Given the description of an element on the screen output the (x, y) to click on. 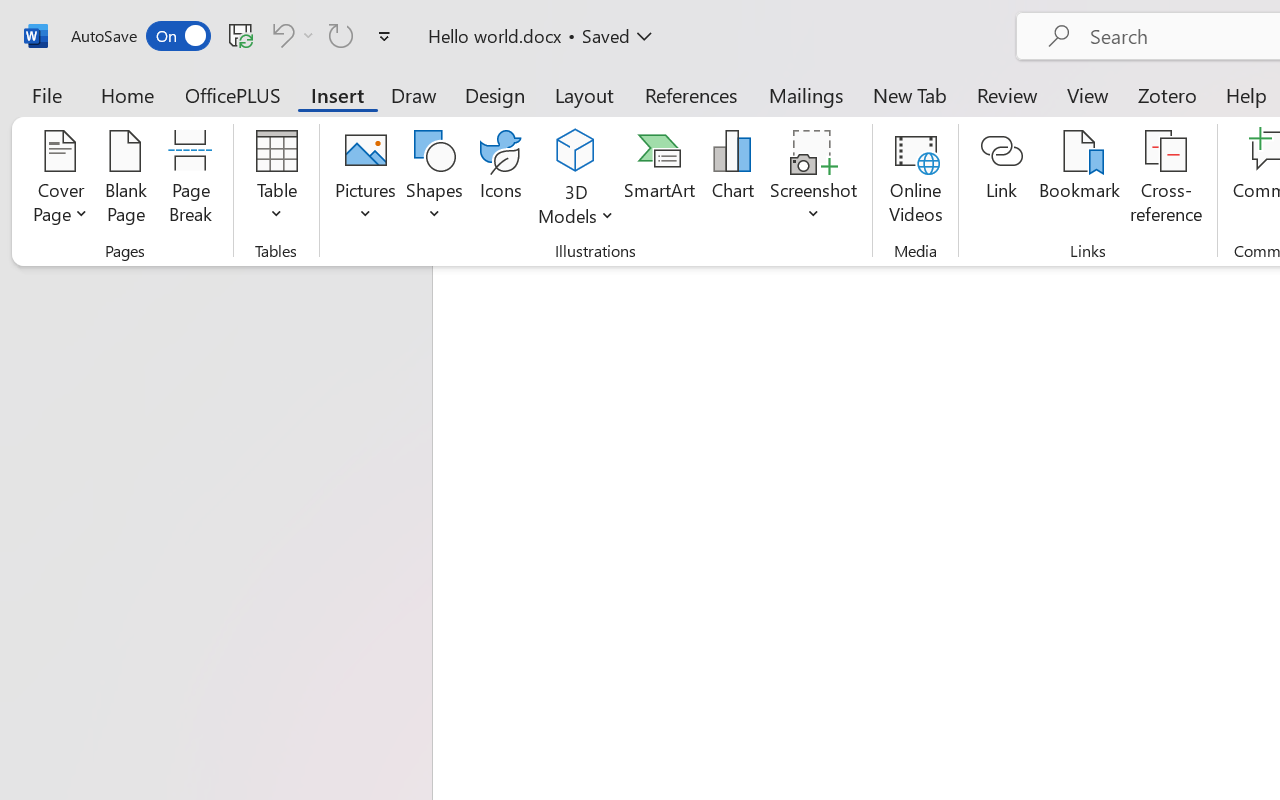
Home (127, 94)
File Tab (46, 94)
More Options (308, 35)
Zotero (1166, 94)
Insert (337, 94)
Customize Quick Access Toolbar (384, 35)
Can't Undo (280, 35)
Review (1007, 94)
Can't Undo (290, 35)
New Tab (909, 94)
Layout (584, 94)
References (690, 94)
Quick Access Toolbar (233, 36)
Save (241, 35)
